Given the description of an element on the screen output the (x, y) to click on. 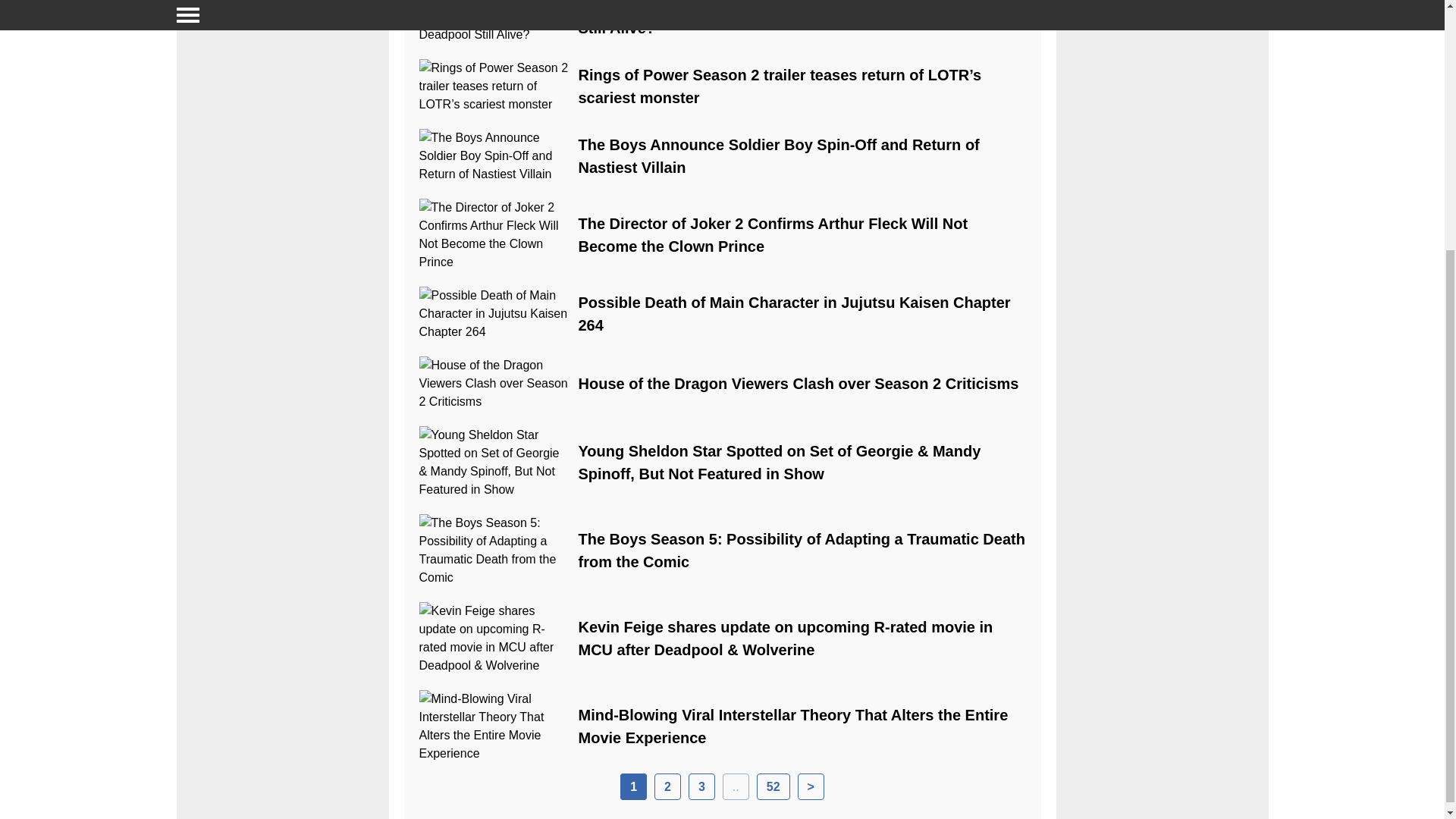
House of the Dragon Viewers Clash over Season 2 Criticisms (797, 383)
3 (701, 786)
2 (667, 786)
52 (773, 786)
1 (633, 786)
